Given the description of an element on the screen output the (x, y) to click on. 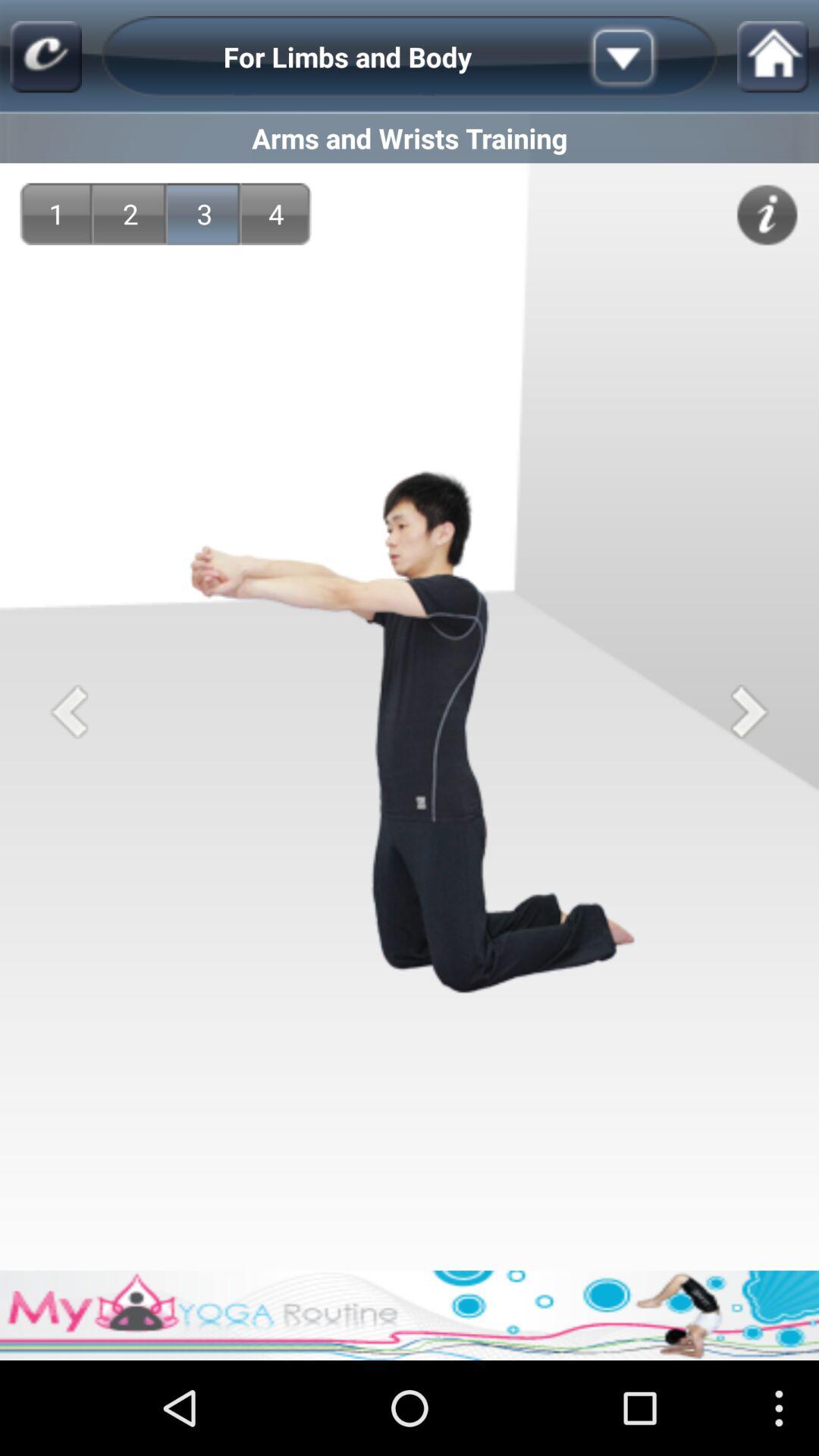
click the 3 (204, 214)
